Given the description of an element on the screen output the (x, y) to click on. 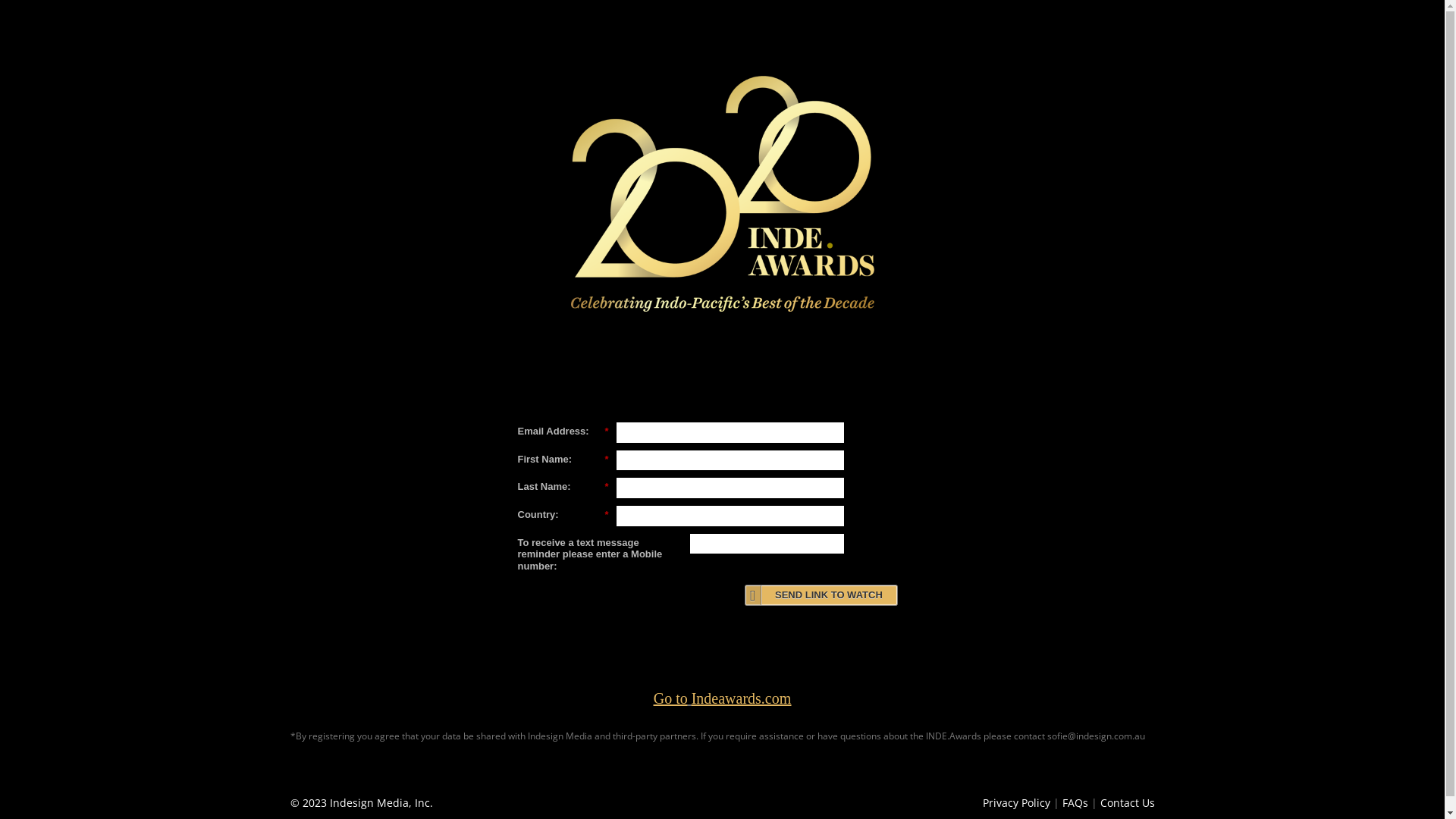
Privacy Policy Element type: text (1016, 802)
Contact Us Element type: text (1126, 802)
FAQs Element type: text (1074, 802)
SEND LINK TO WATCH Element type: text (820, 594)
Indeawards.com Element type: text (741, 698)
